Given the description of an element on the screen output the (x, y) to click on. 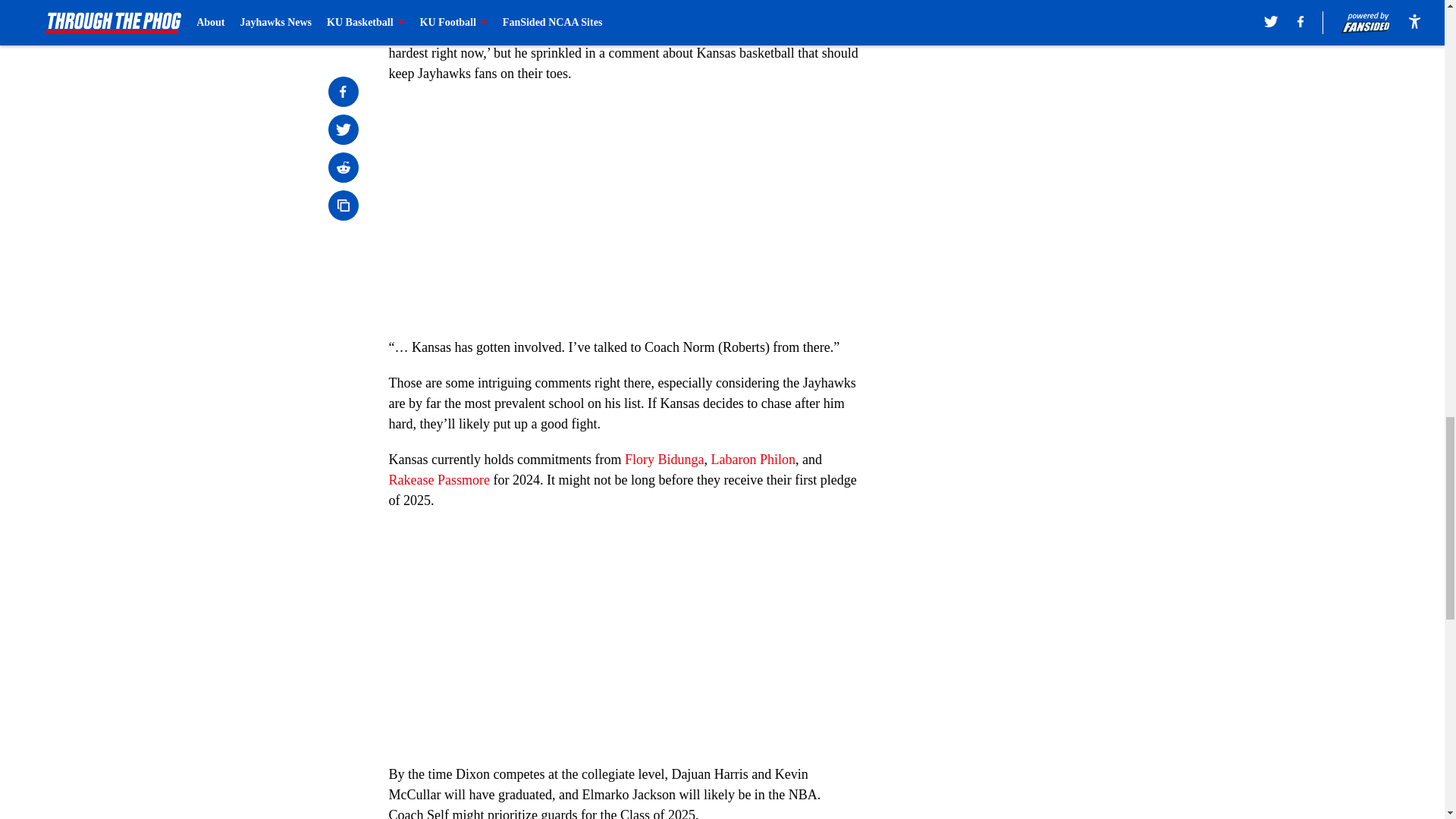
Labaron Philon (752, 459)
Travis Graf of MADE Hoops (550, 11)
Flory Bidunga (664, 459)
Rakease Passmore (438, 479)
